Given the description of an element on the screen output the (x, y) to click on. 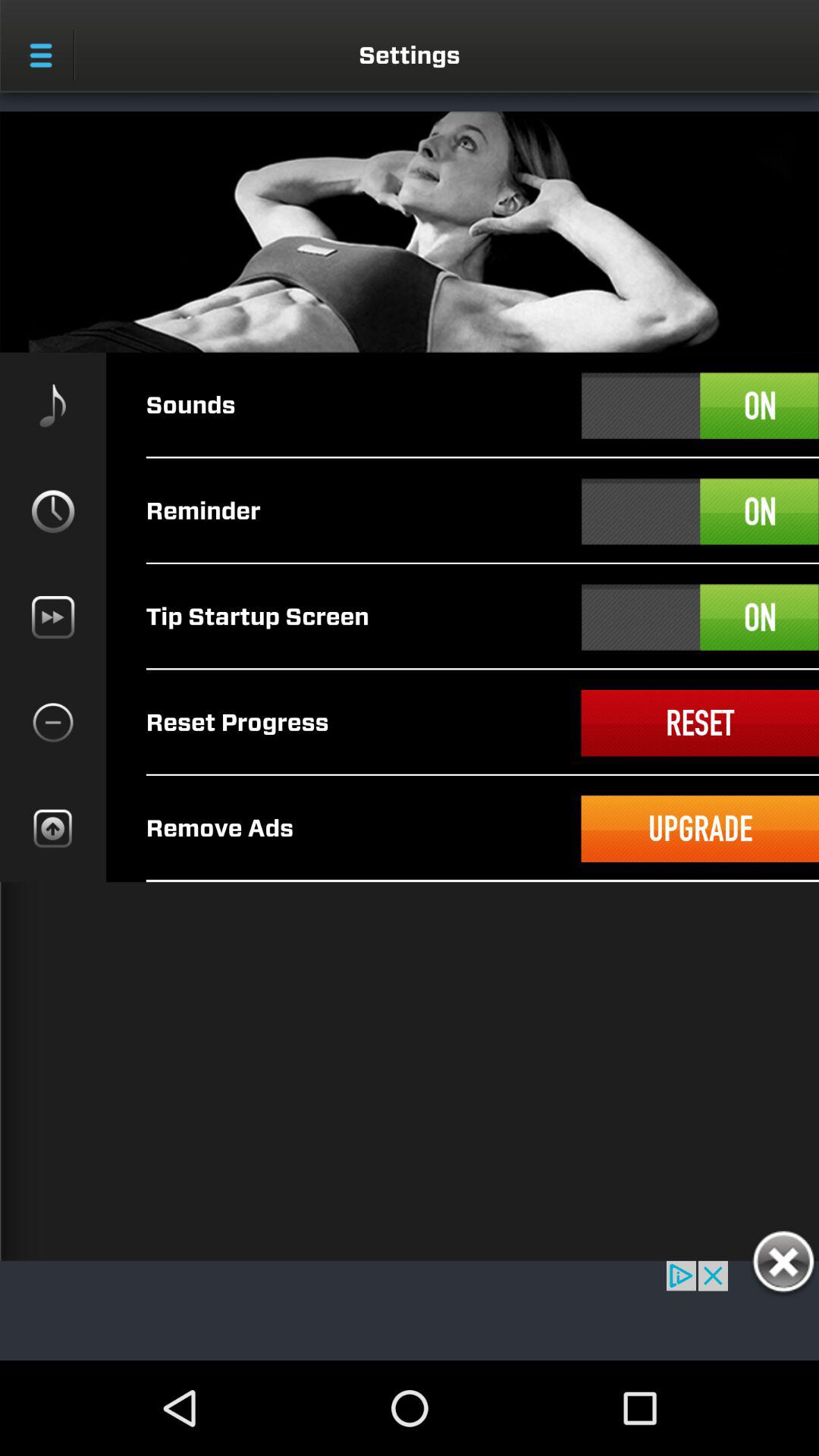
go to cencel button (783, 1264)
